Given the description of an element on the screen output the (x, y) to click on. 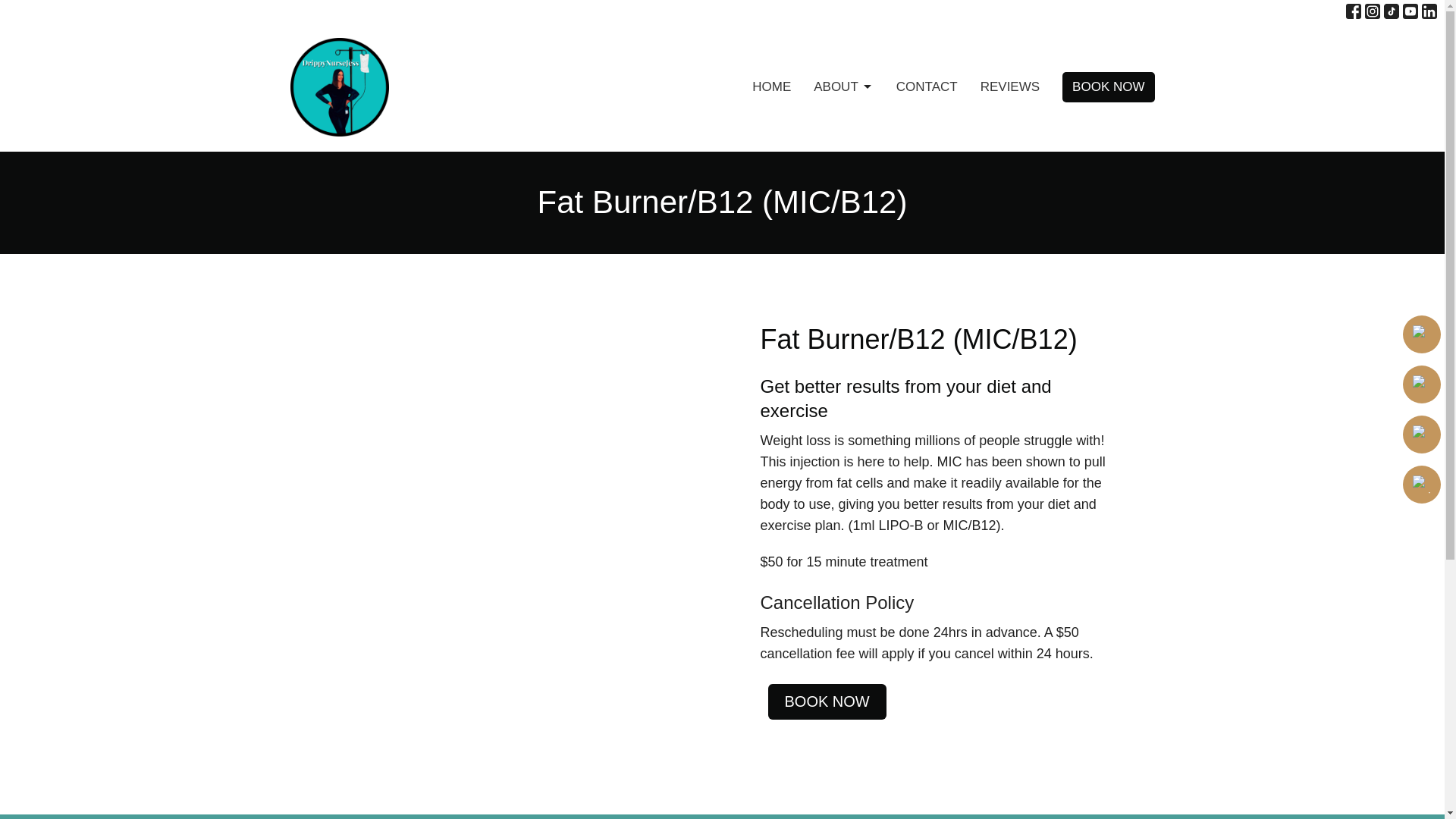
BOOK NOW (826, 701)
HOME (771, 86)
BOOK NOW (1108, 87)
REVIEWS (1009, 86)
ABOUT (843, 86)
CONTACT (927, 86)
